Given the description of an element on the screen output the (x, y) to click on. 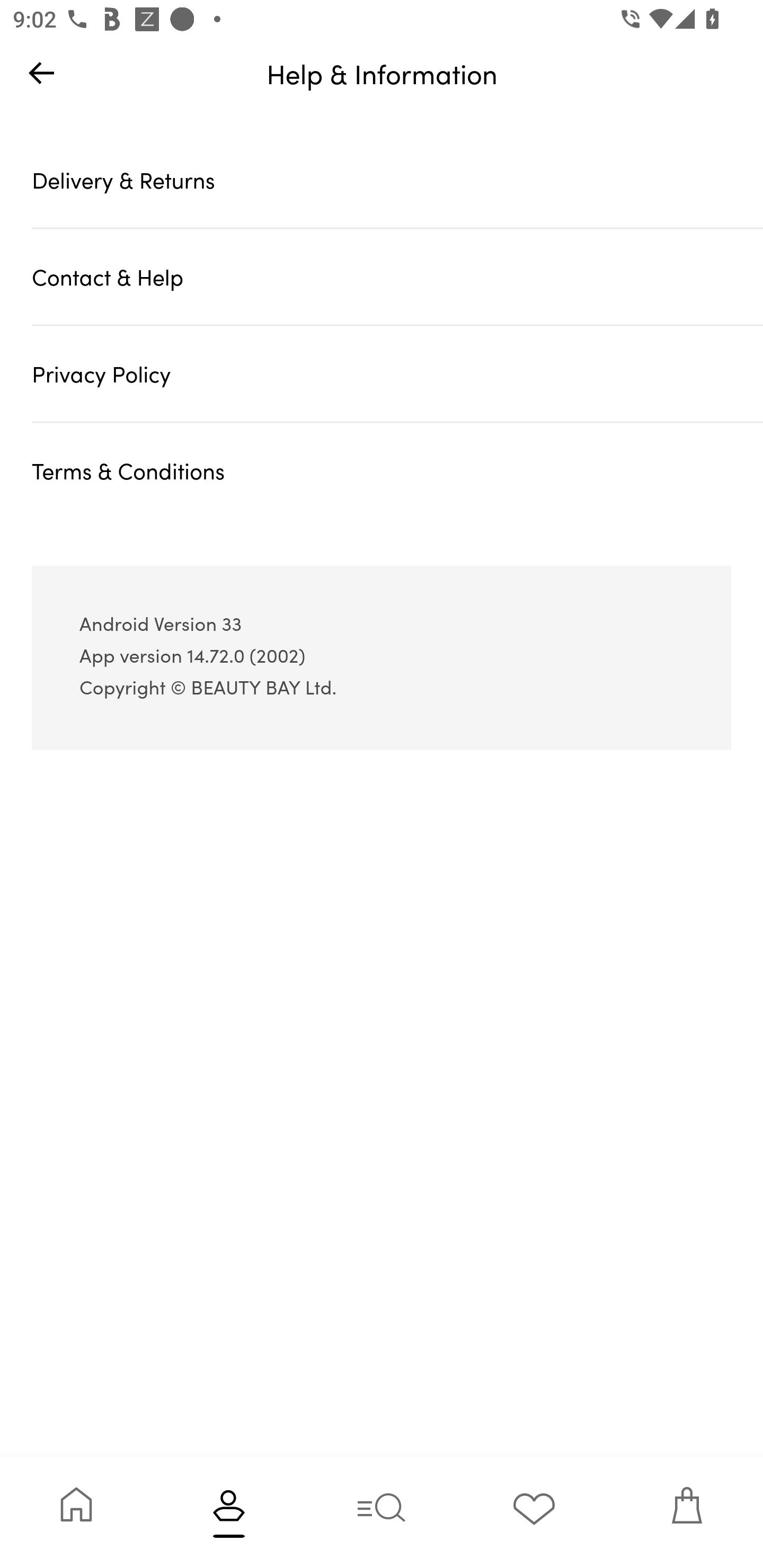
Delivery & Returns (397, 179)
Contact & Help (397, 276)
Privacy Policy (397, 373)
Terms & Conditions (397, 470)
